Given the description of an element on the screen output the (x, y) to click on. 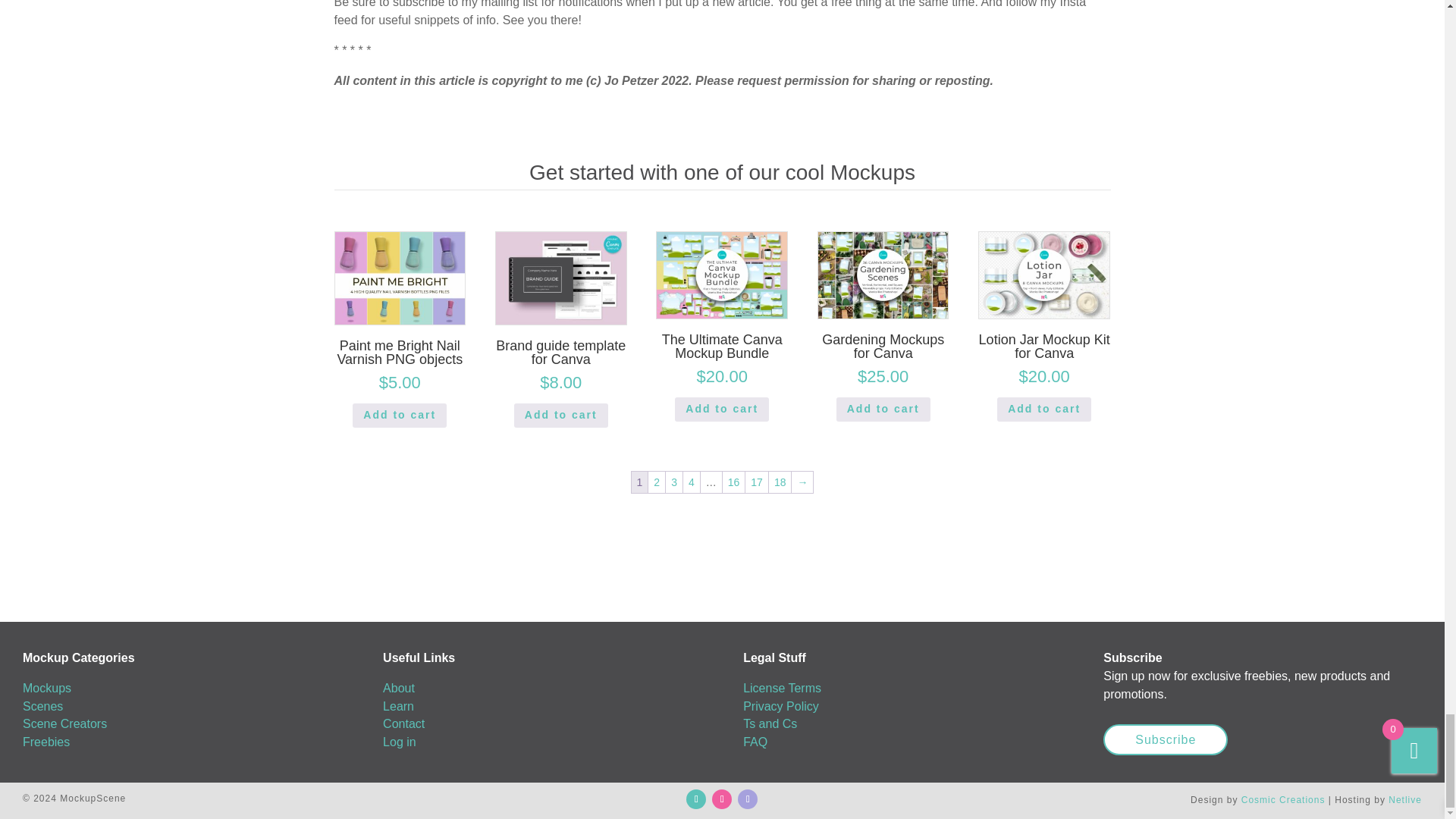
Follow on Pinterest (747, 799)
Follow on Instagram (721, 799)
Follow on Facebook (695, 799)
